Given the description of an element on the screen output the (x, y) to click on. 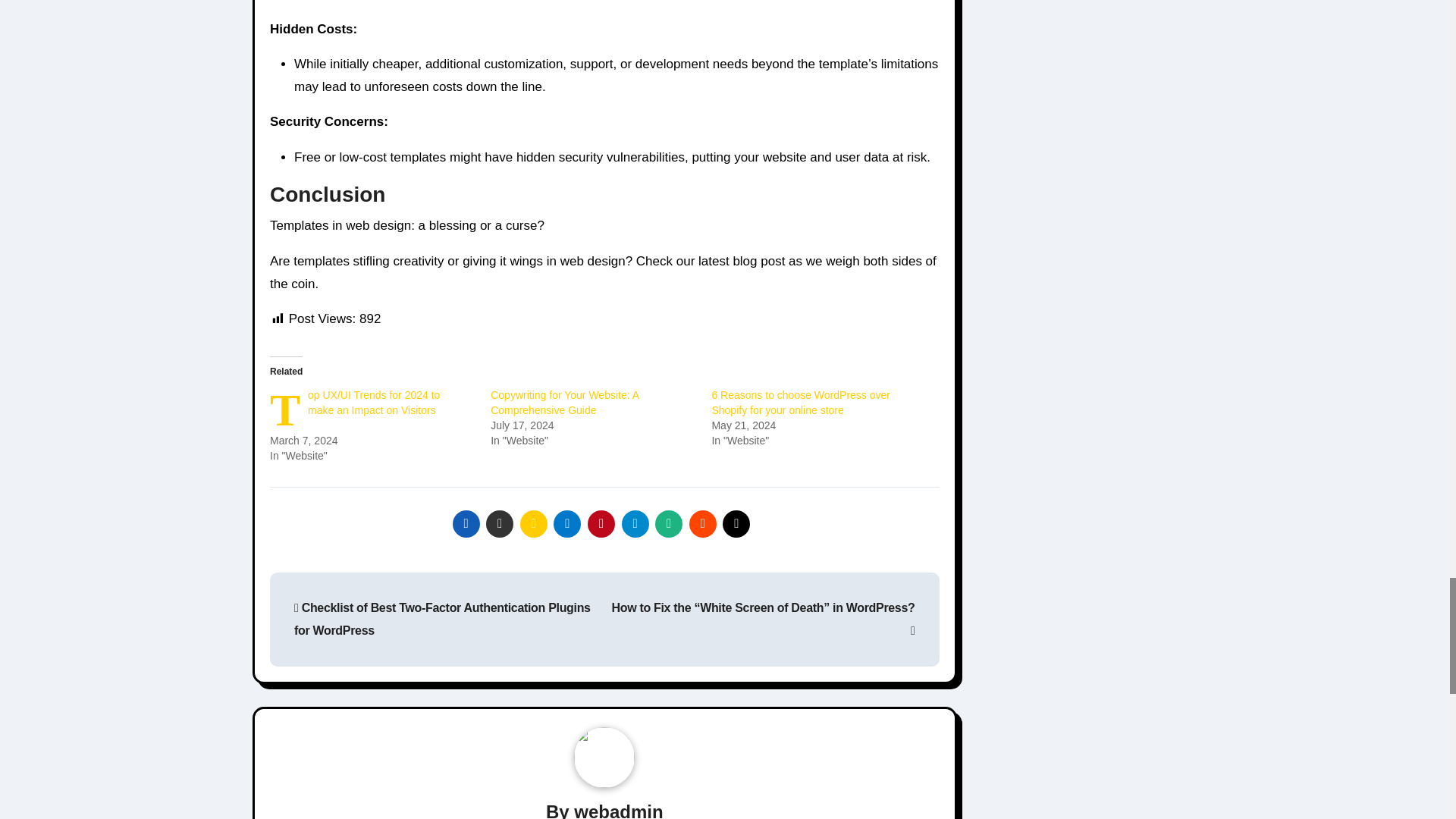
Copywriting for Your Website: A Comprehensive Guide (564, 402)
Copywriting for Your Website: A Comprehensive Guide (564, 402)
